Given the description of an element on the screen output the (x, y) to click on. 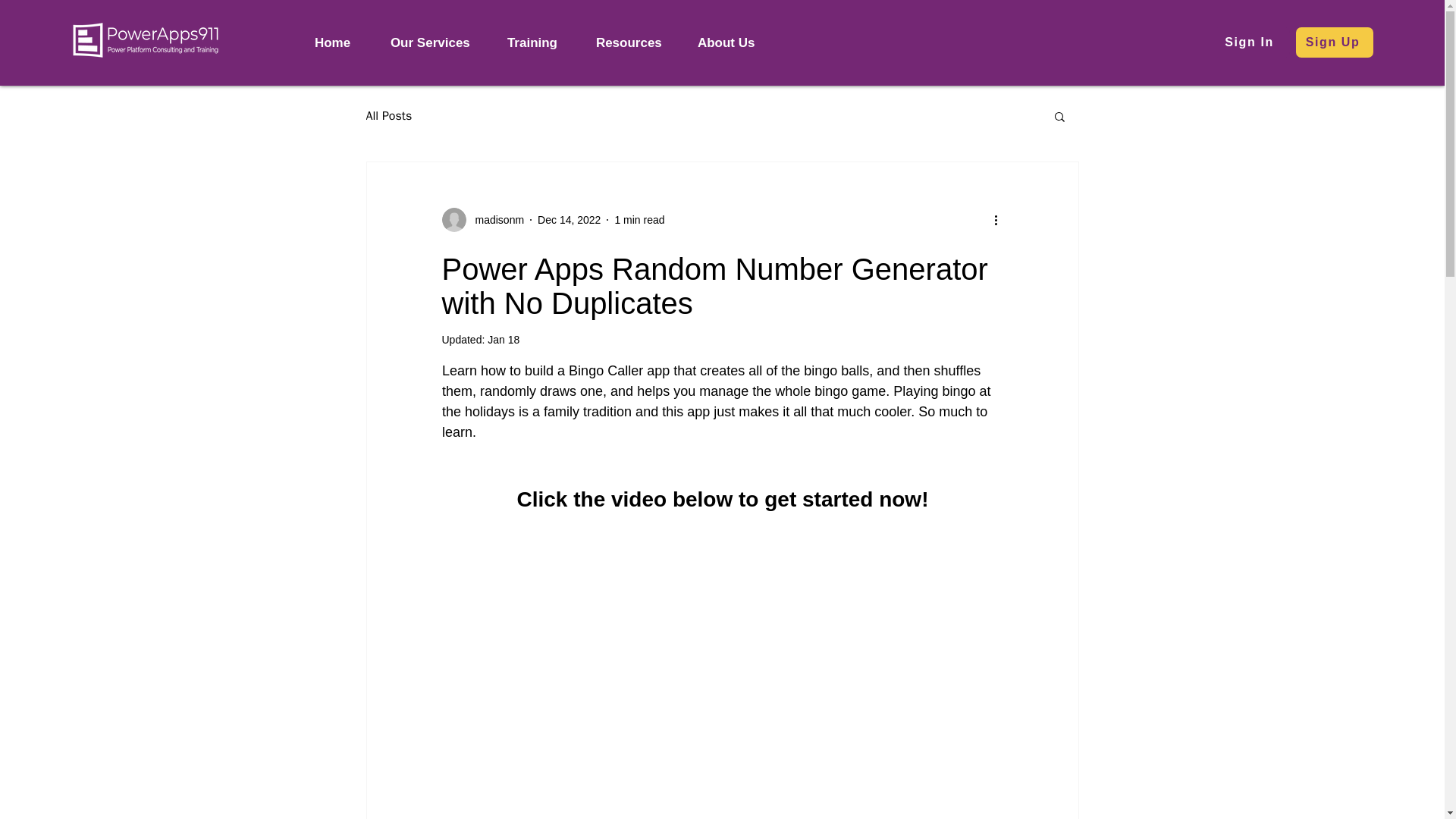
Jan 18 (503, 339)
madisonm (494, 220)
Home (340, 42)
All Posts (388, 115)
Sign Up (1334, 42)
1 min read (638, 219)
Sign In (1251, 42)
Our Services (437, 42)
Training (540, 42)
madisonm (482, 219)
Dec 14, 2022 (568, 219)
